Given the description of an element on the screen output the (x, y) to click on. 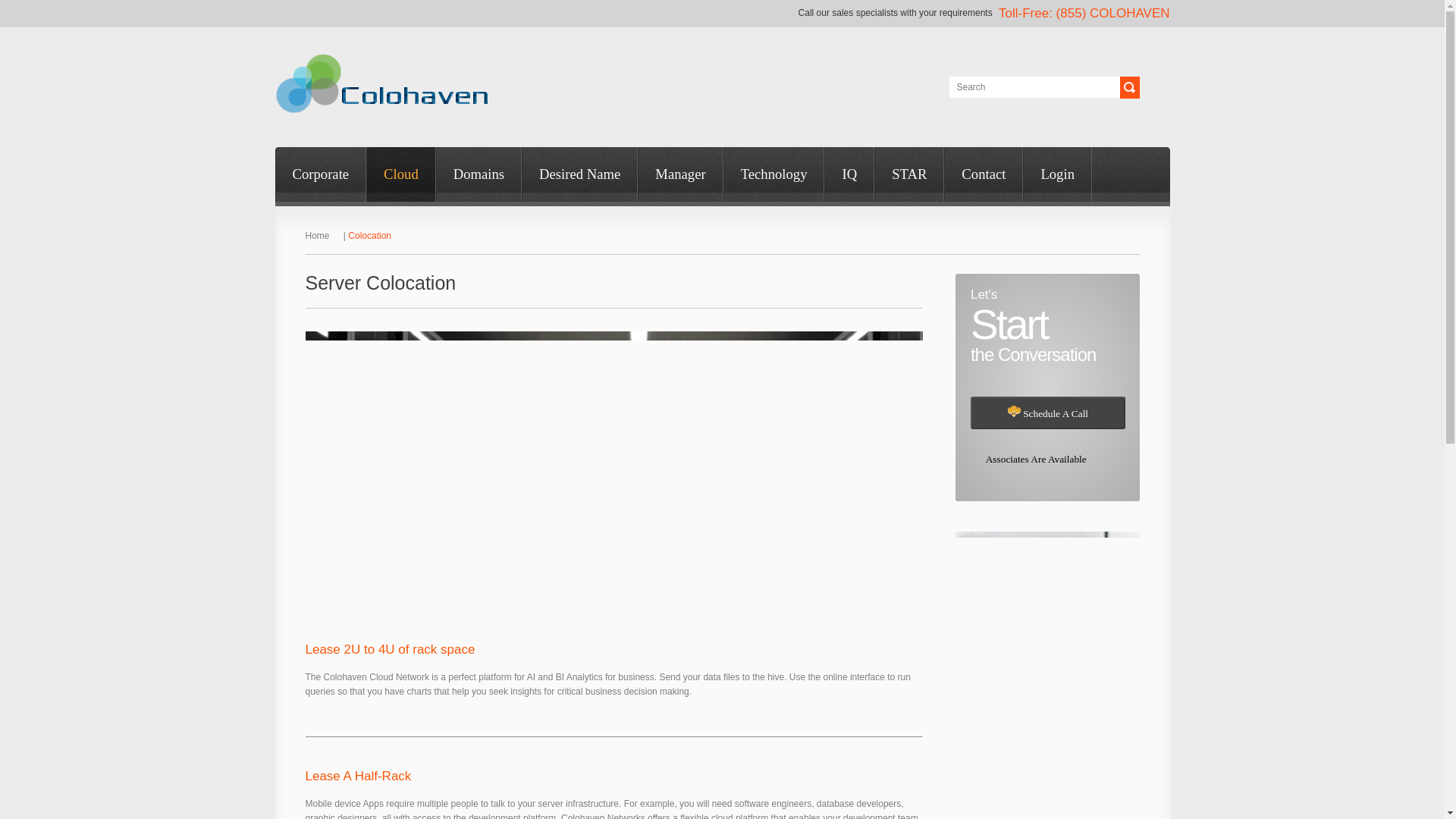
Cloud (400, 174)
Manager (679, 174)
Contact (983, 174)
STAR (909, 174)
Schedule A Call (1048, 412)
Corporate (320, 174)
Login (1057, 174)
Home (322, 235)
Technology (774, 174)
Home (322, 235)
